Given the description of an element on the screen output the (x, y) to click on. 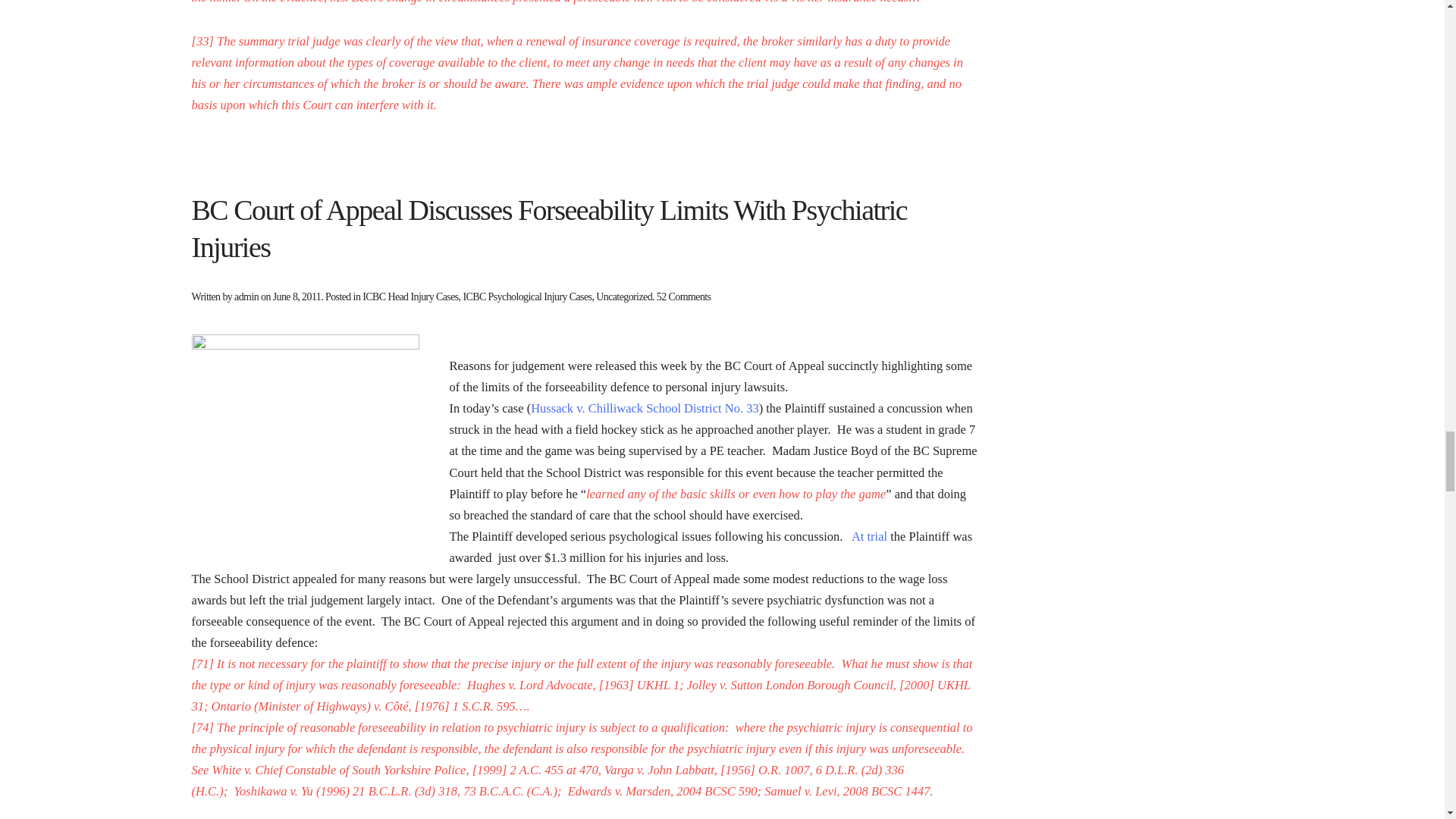
bc-injury-law-forseeability (304, 447)
